Given the description of an element on the screen output the (x, y) to click on. 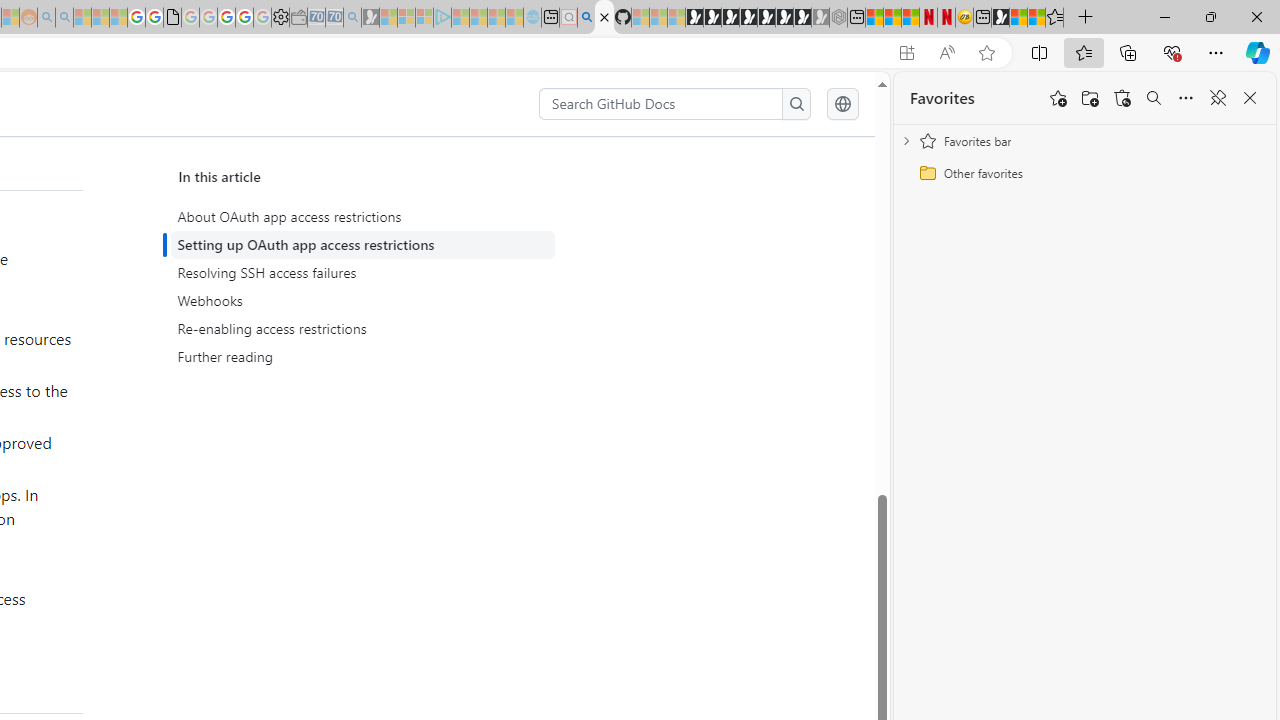
About OAuth app access restrictions (365, 217)
Search favorites (1153, 98)
Re-enabling access restrictions (365, 328)
Webhooks (365, 301)
